Given the description of an element on the screen output the (x, y) to click on. 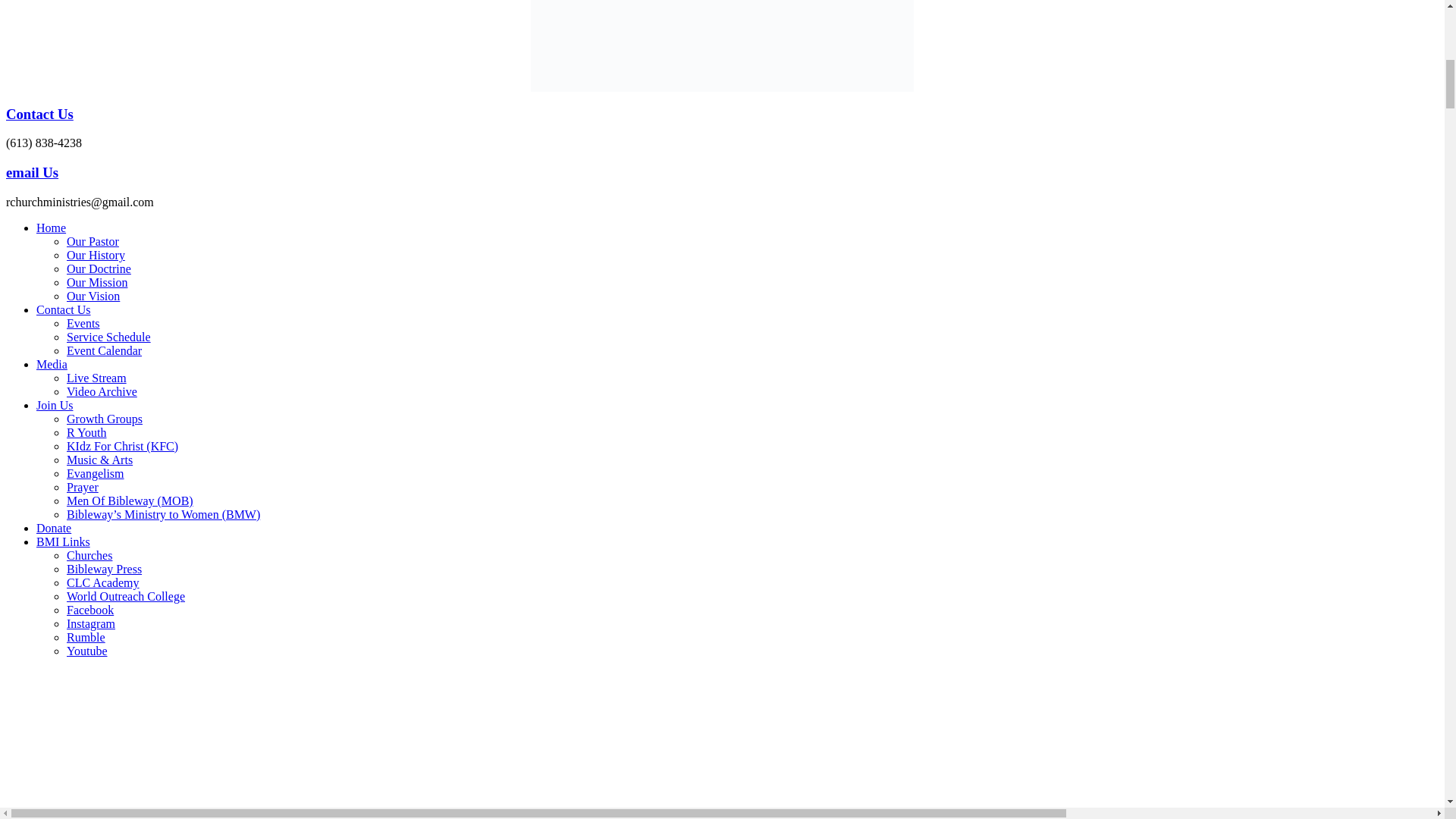
Service Schedule (108, 336)
Live Stream (96, 377)
BMI Links (63, 541)
Our Doctrine (98, 268)
Event Calendar (103, 350)
Our History (95, 254)
Video Archive (101, 391)
Evangelism (94, 472)
Facebook (89, 609)
Our Mission (97, 282)
